Given the description of an element on the screen output the (x, y) to click on. 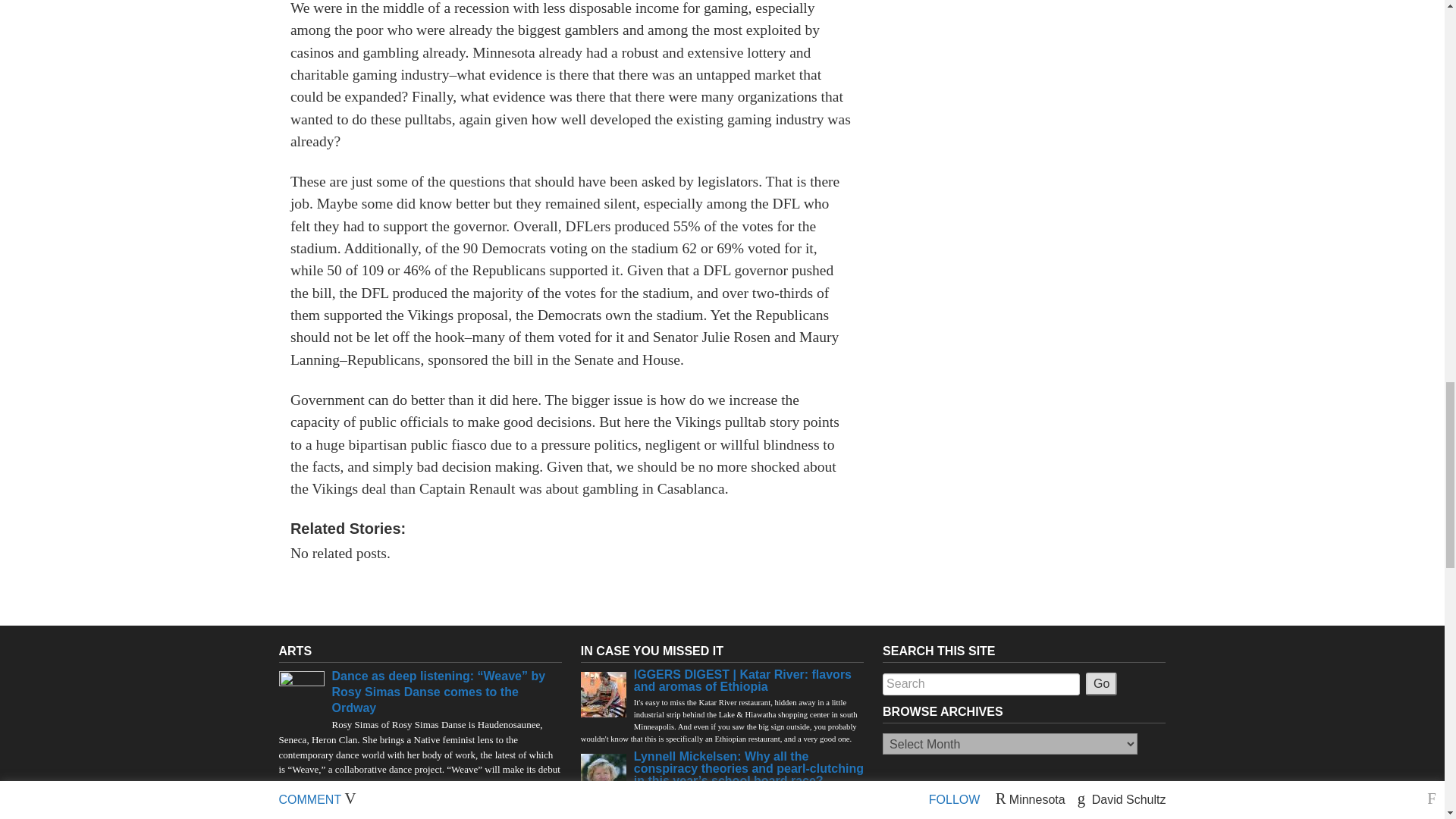
Go (1101, 683)
Go (1101, 683)
